Given the description of an element on the screen output the (x, y) to click on. 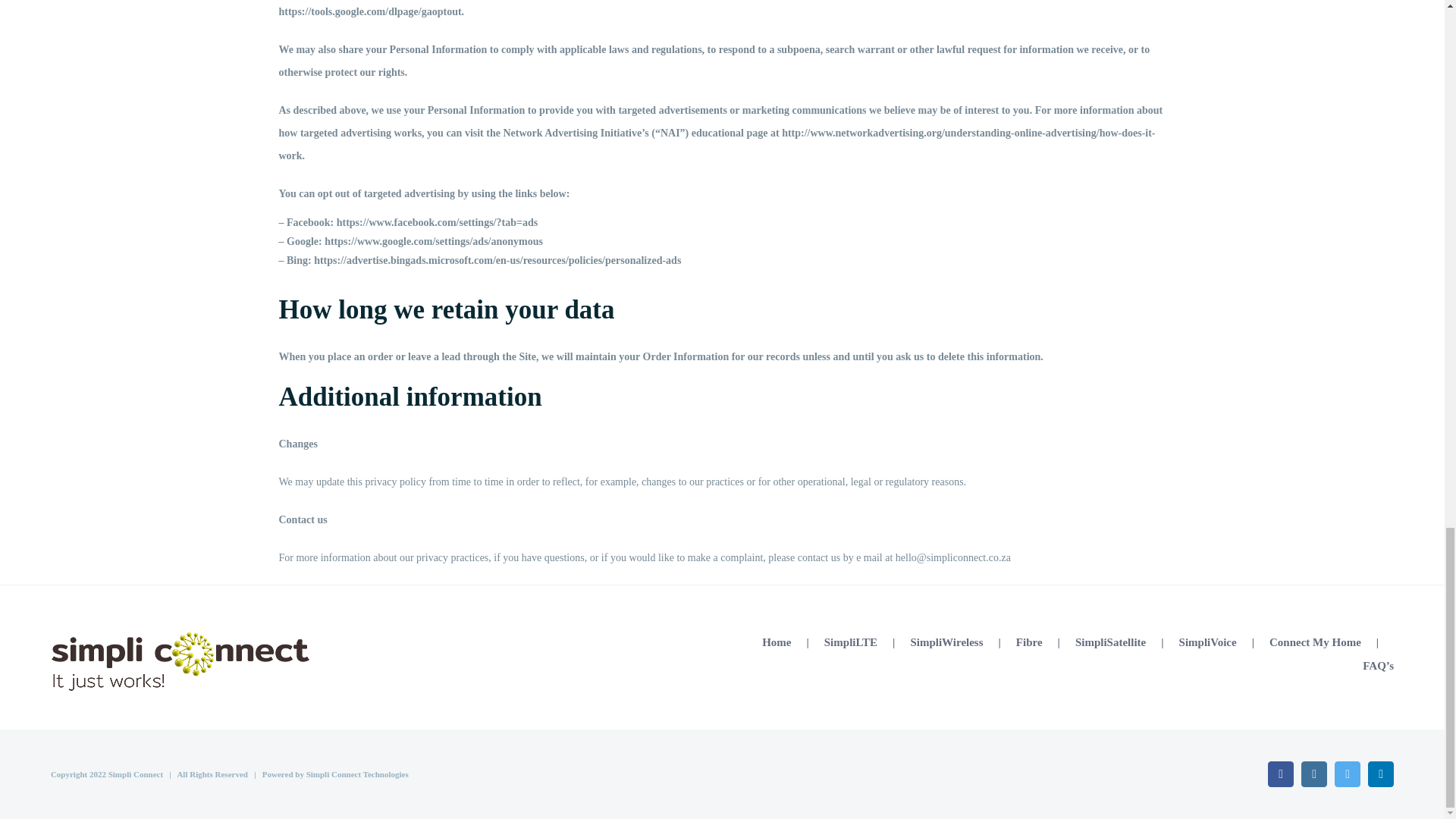
Fibre (1045, 640)
SimpliLTE (867, 640)
Twitter (1347, 773)
SimpliSatellite (1127, 640)
Home (792, 640)
Facebook (1281, 773)
Instagram (1313, 773)
Facebook (1281, 773)
Instagram (1313, 773)
LinkedIn (1380, 773)
